Given the description of an element on the screen output the (x, y) to click on. 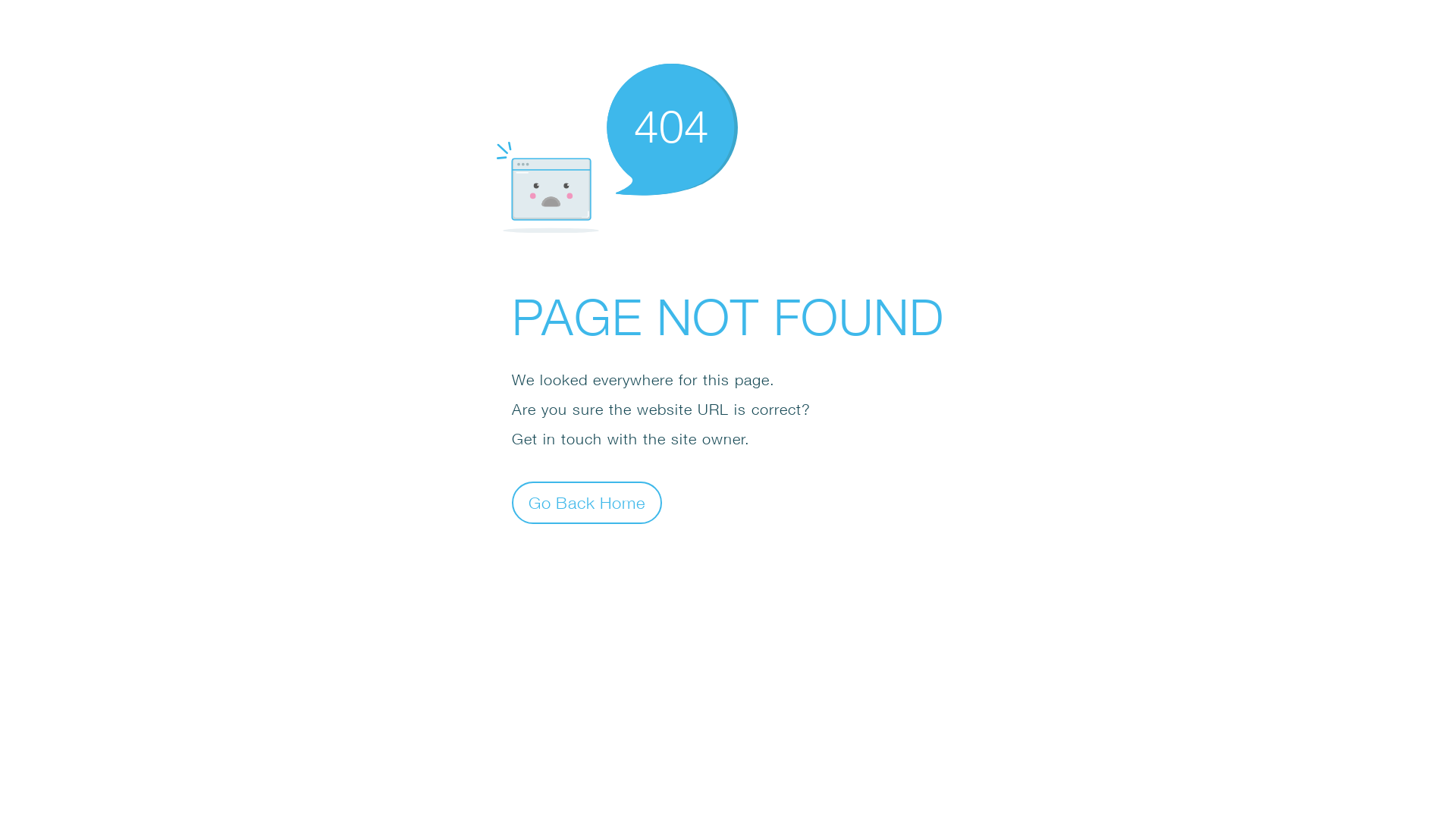
Go Back Home Element type: text (586, 502)
